Given the description of an element on the screen output the (x, y) to click on. 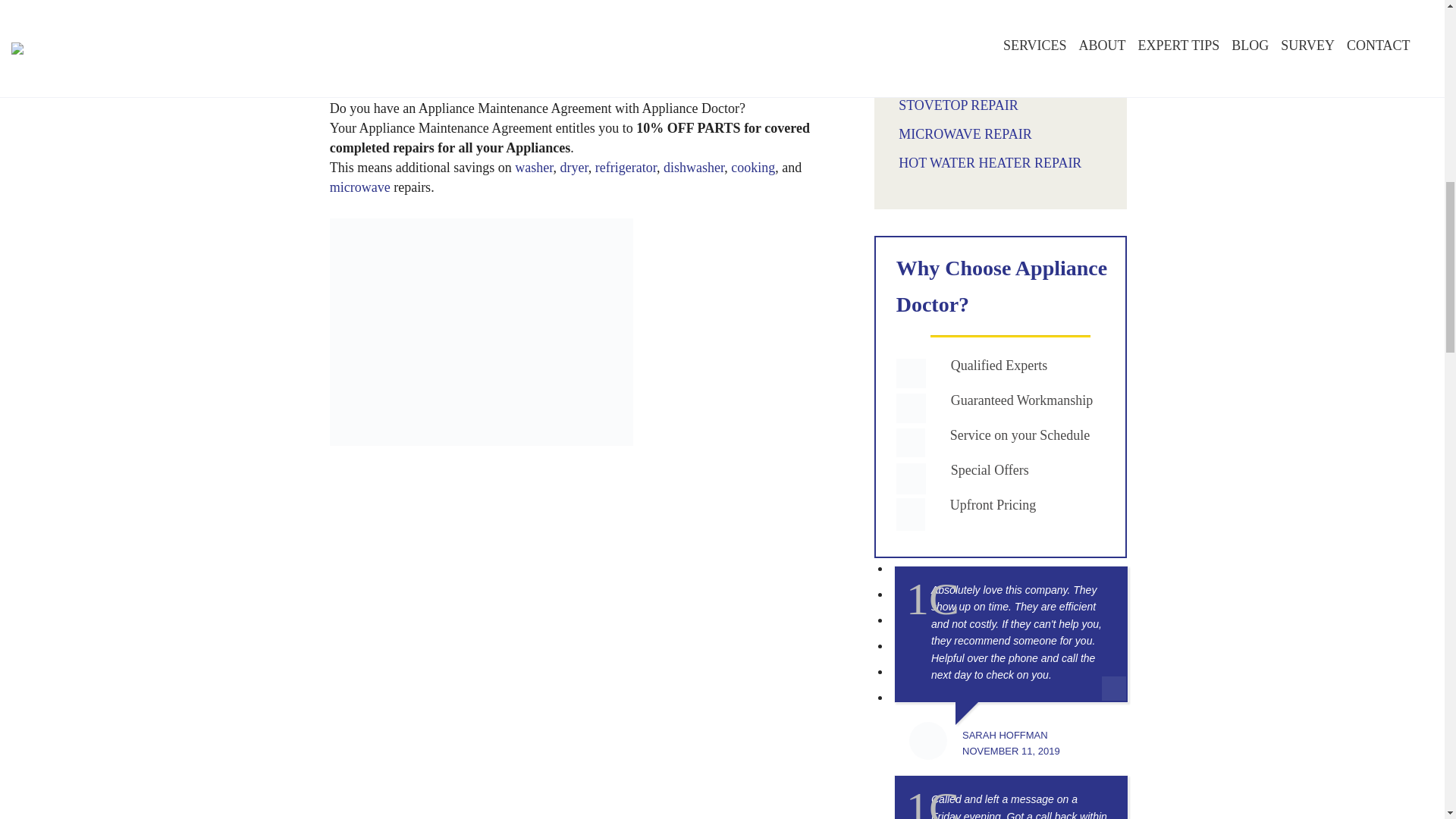
OVEN, RANGE, HOOD, AND STOVETOP REPAIR (984, 95)
REFRIGERATOR REPAIR (974, 56)
refrigerator (625, 167)
washer (534, 167)
cooking (752, 167)
WASHING MACHINE REPAIR (988, 3)
dishwasher (693, 167)
dryer (573, 167)
FREEZER REPAIR (953, 28)
microwave (360, 186)
